Given the description of an element on the screen output the (x, y) to click on. 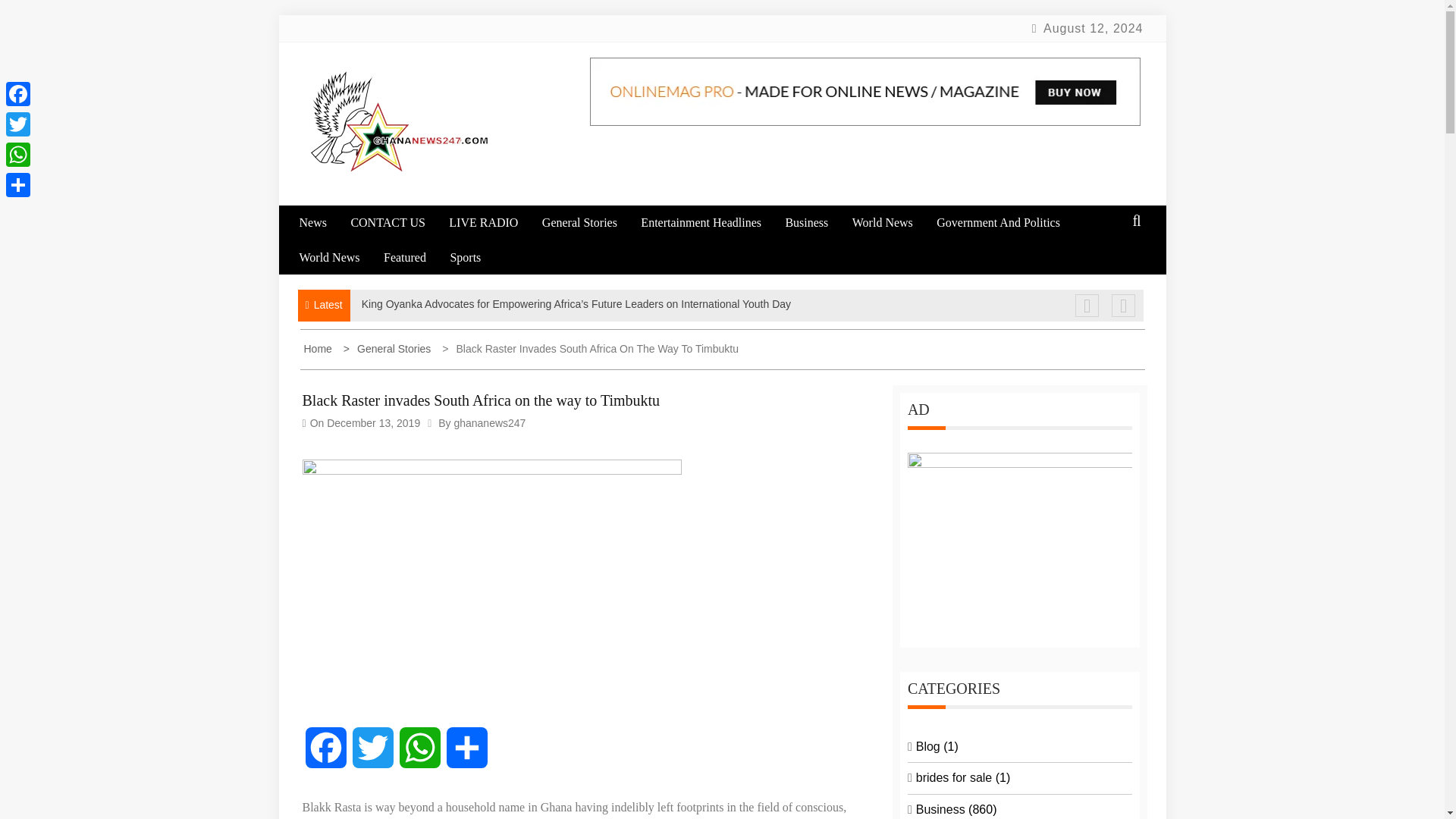
Sports (474, 257)
ghananews247 (488, 422)
News (322, 222)
World News (892, 222)
December 13, 2019 (373, 422)
Ghananews247 (413, 204)
Government And Politics (1008, 222)
General Stories (589, 222)
CONTACT US (397, 222)
